Given the description of an element on the screen output the (x, y) to click on. 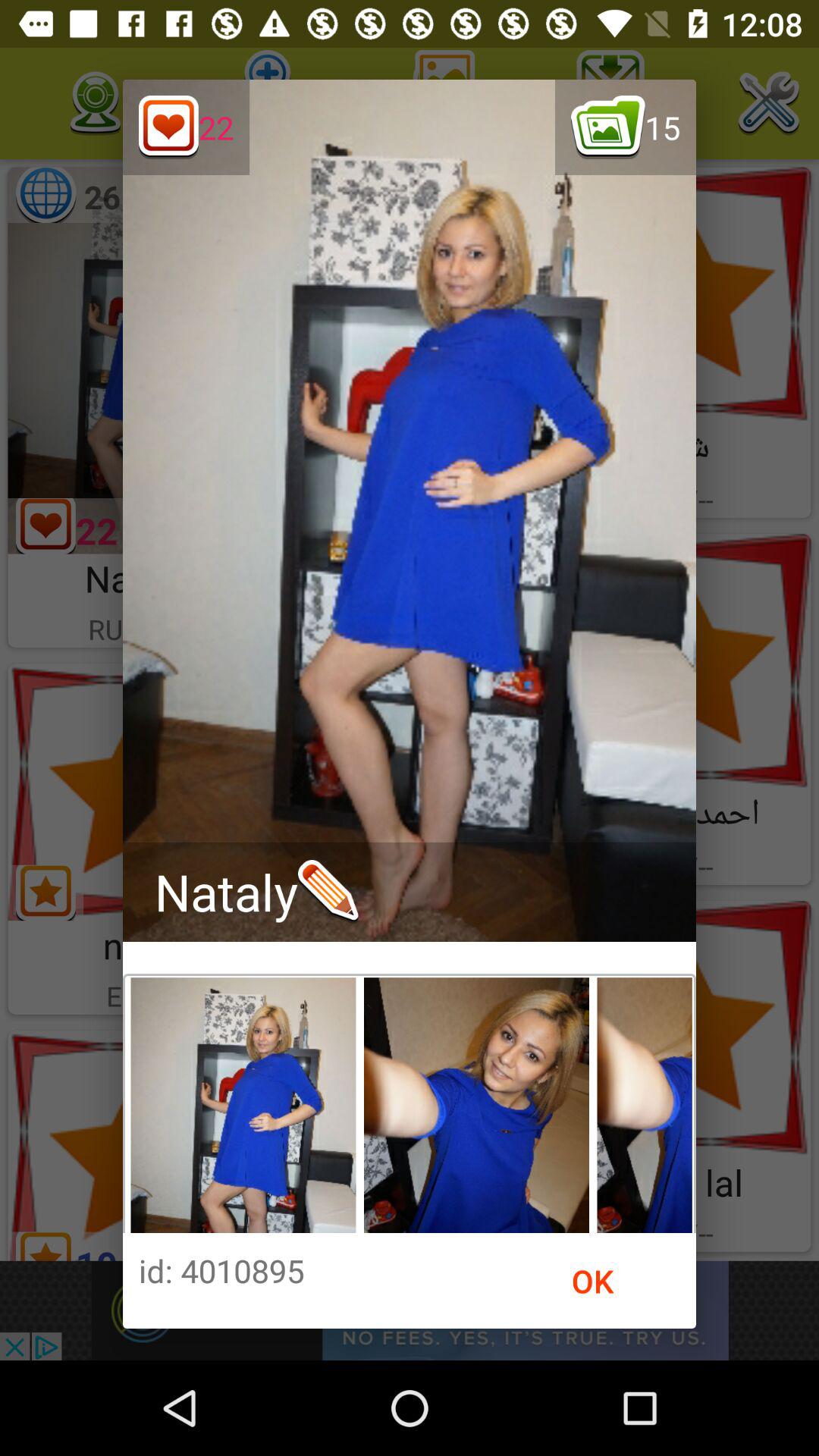
turn on the nataly on the left (256, 891)
